Given the description of an element on the screen output the (x, y) to click on. 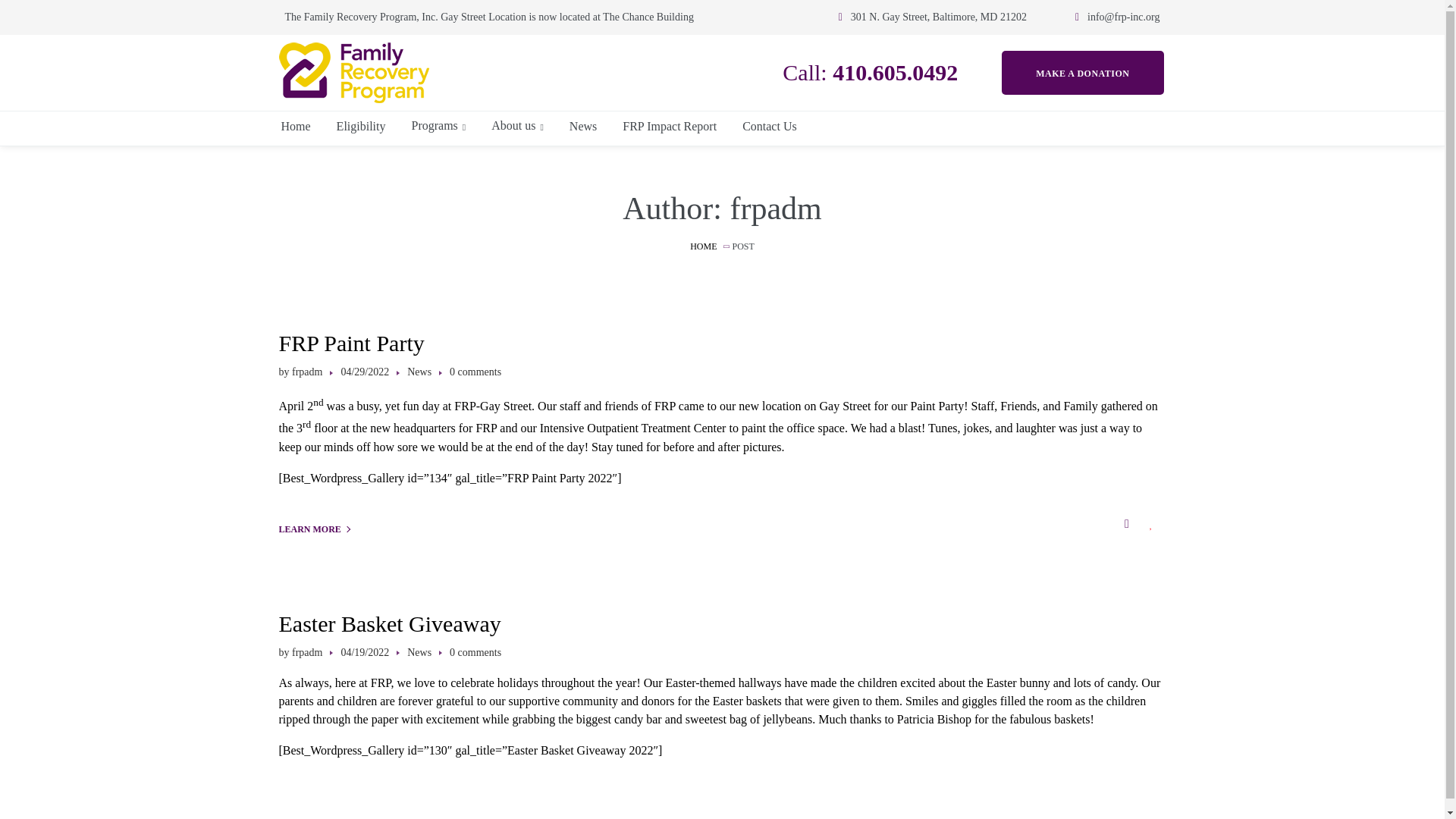
About us (517, 125)
Eligibility (360, 126)
Contact Us (769, 126)
News (582, 126)
0 Likes (1153, 523)
MAKE A DONATION (1082, 72)
Home (294, 126)
HOME (703, 245)
FRP Impact Report (668, 126)
Programs (437, 125)
